Given the description of an element on the screen output the (x, y) to click on. 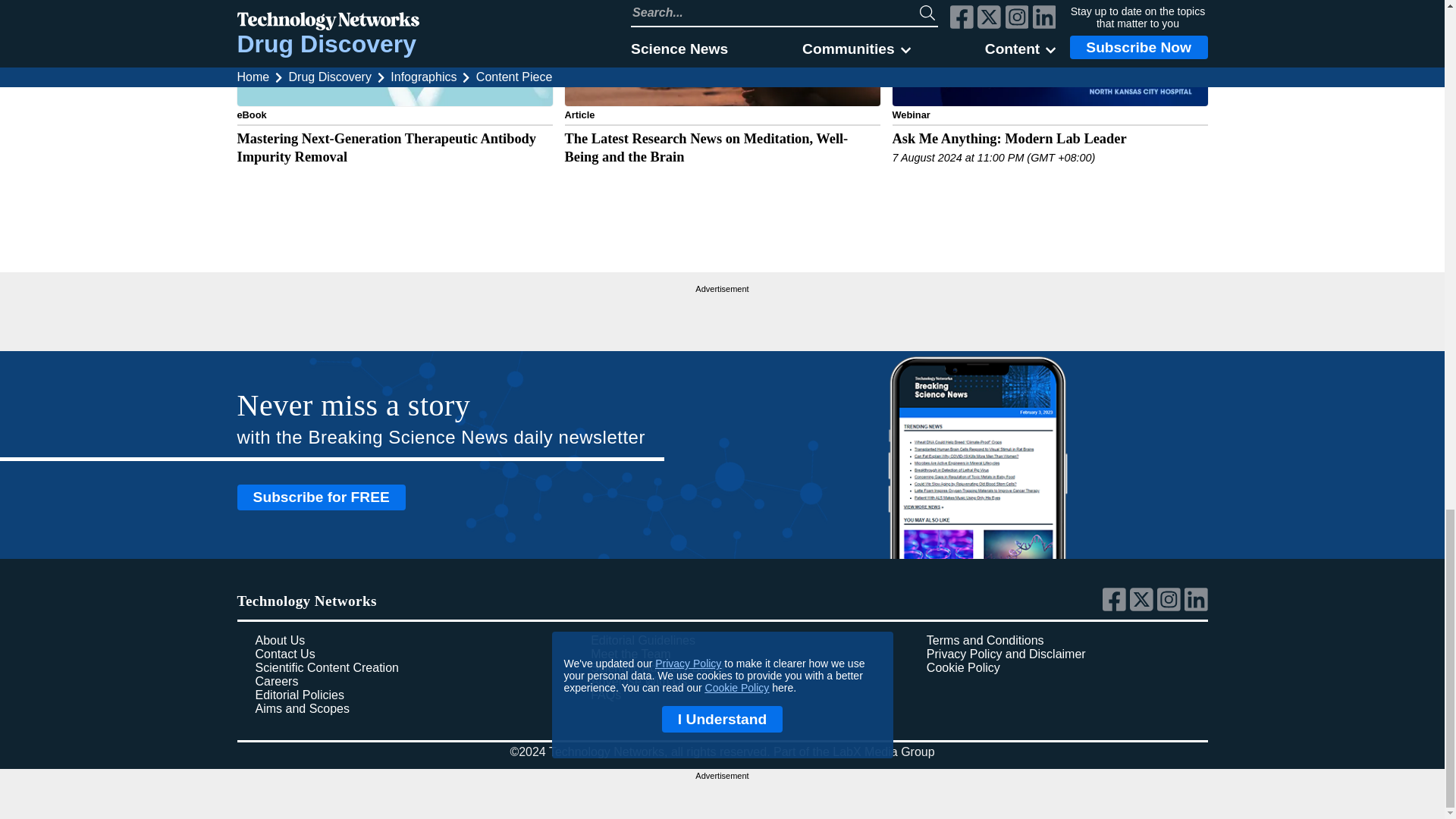
Click to view "Ask Me Anything: Modern Lab Leader" (1049, 99)
Link to Technology Networks' facebook page (1115, 607)
Link to Technology Networks' instagram page (1171, 607)
Link to Technology Networks' linkedin page (1196, 607)
3rd party ad content (721, 316)
Link to Technology Networks' twitter page (1143, 607)
